Given the description of an element on the screen output the (x, y) to click on. 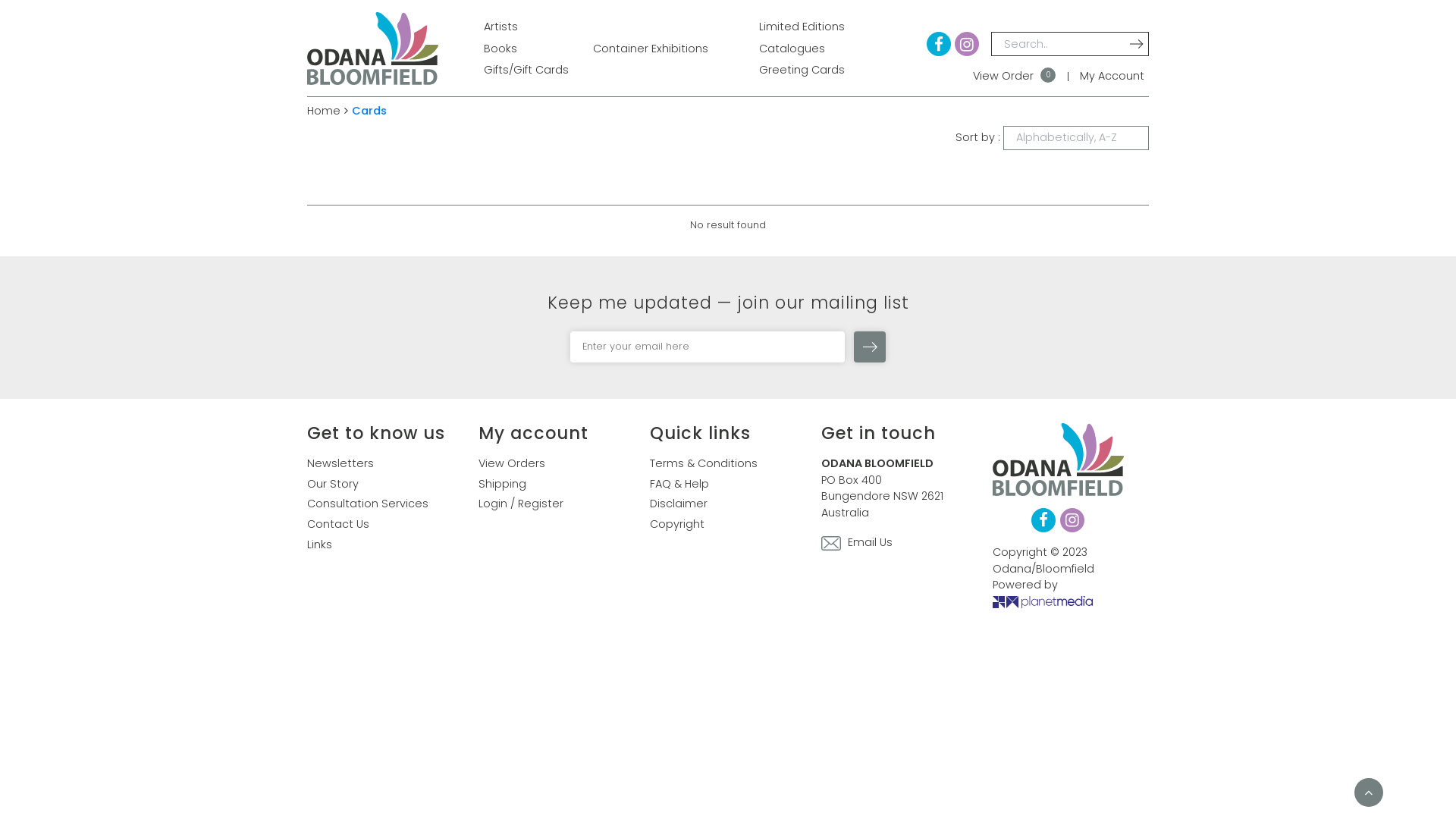
Catalogues Element type: text (791, 48)
Login / Register Element type: text (520, 503)
Gifts/Gift Cards Element type: text (526, 69)
View Order 0 Element type: text (1013, 76)
Limited Editions Element type: text (801, 26)
Email Us Element type: text (856, 543)
Copyright Element type: text (676, 524)
Greeting Cards Element type: text (801, 69)
Contact Us Element type: text (338, 524)
Links Element type: text (319, 544)
Container Exhibitions Element type: text (650, 48)
Terms & Conditions Element type: text (703, 463)
View Orders Element type: text (511, 463)
Subscribe Element type: text (869, 347)
Consultation Services Element type: text (367, 503)
Shipping Element type: text (502, 484)
Home Element type: text (323, 110)
My Account Element type: text (1111, 76)
Our Story Element type: text (332, 484)
Books Element type: text (500, 48)
Artists Element type: text (500, 26)
Disclaimer Element type: text (678, 503)
FAQ & Help Element type: text (679, 484)
Cards Element type: text (368, 110)
Newsletters Element type: text (340, 463)
